Given the description of an element on the screen output the (x, y) to click on. 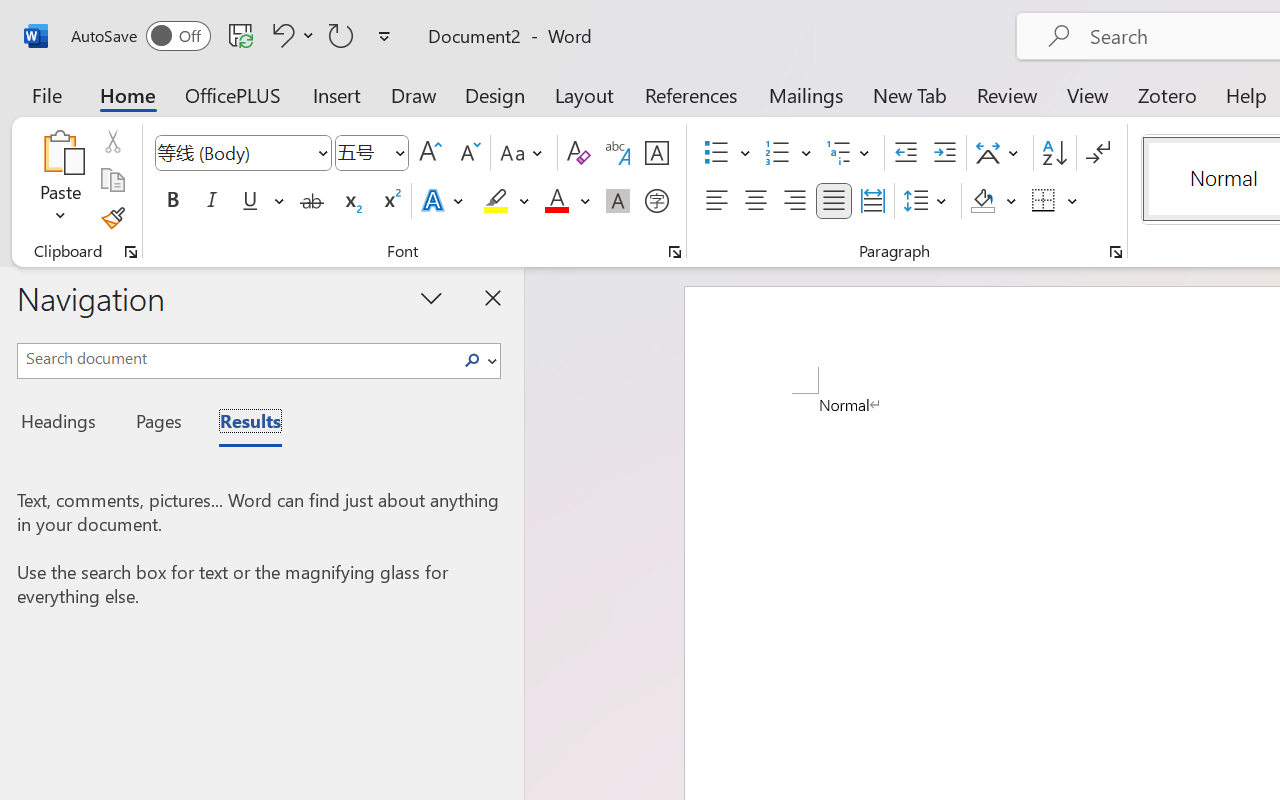
Results (240, 424)
Format Painter (112, 218)
Justify (834, 201)
Design (495, 94)
Font (242, 153)
Change Case (524, 153)
New Tab (909, 94)
Decrease Indent (906, 153)
Text Highlight Color Yellow (495, 201)
Insert (337, 94)
Repeat Doc Close (341, 35)
Bold (172, 201)
Font... (675, 252)
Copy (112, 179)
Show/Hide Editing Marks (1098, 153)
